Given the description of an element on the screen output the (x, y) to click on. 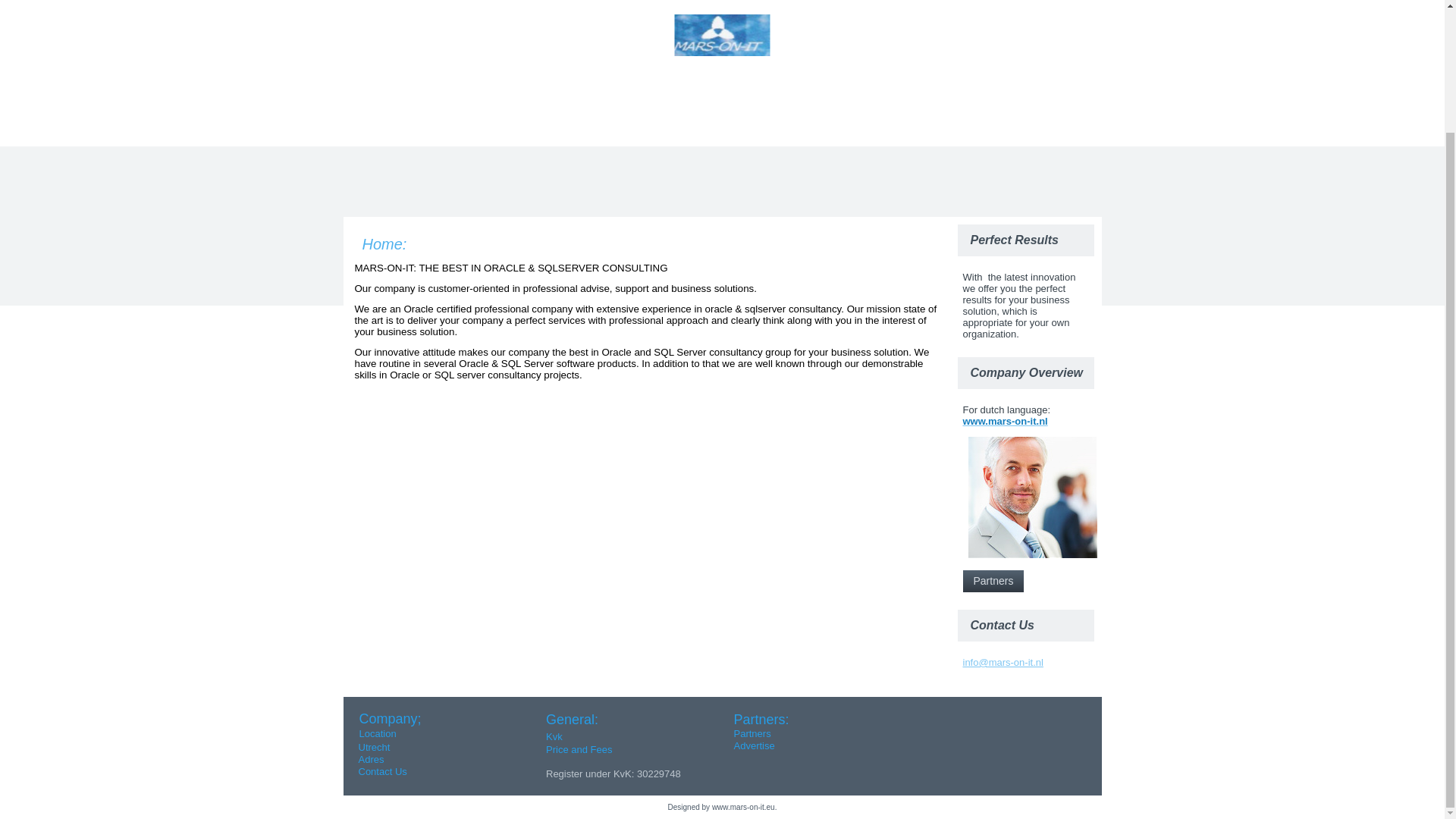
www.mars-on-it.nl (1005, 420)
Partners (993, 581)
Home: (384, 243)
Location (377, 732)
Price and Fees (578, 749)
Contact Us (382, 771)
Kvk (554, 736)
Adres (371, 758)
Advertise (753, 745)
Partners (752, 733)
